Given the description of an element on the screen output the (x, y) to click on. 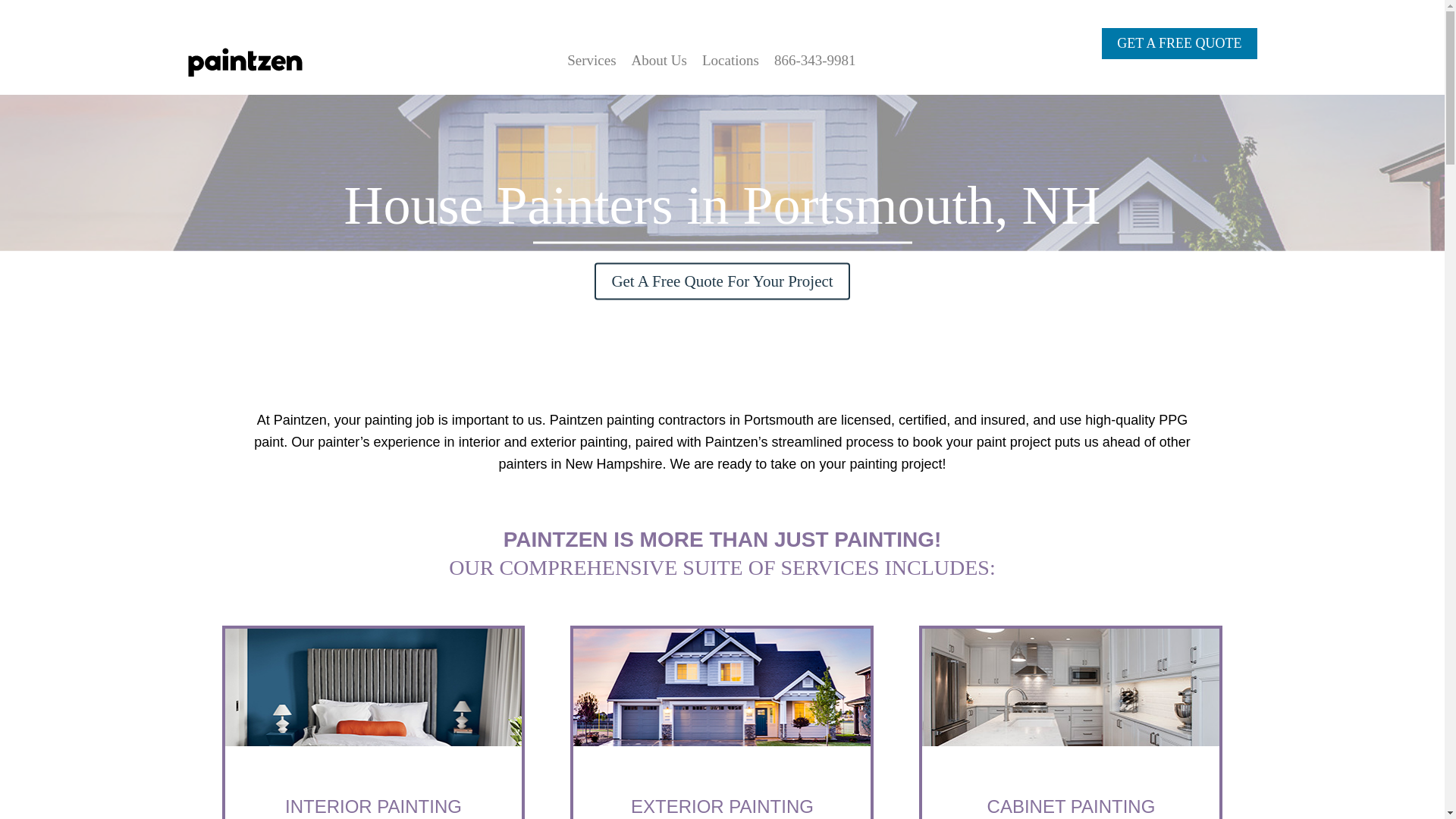
Services (591, 60)
About Us (659, 60)
866-343-9981 (815, 60)
Locations (729, 60)
